Given the description of an element on the screen output the (x, y) to click on. 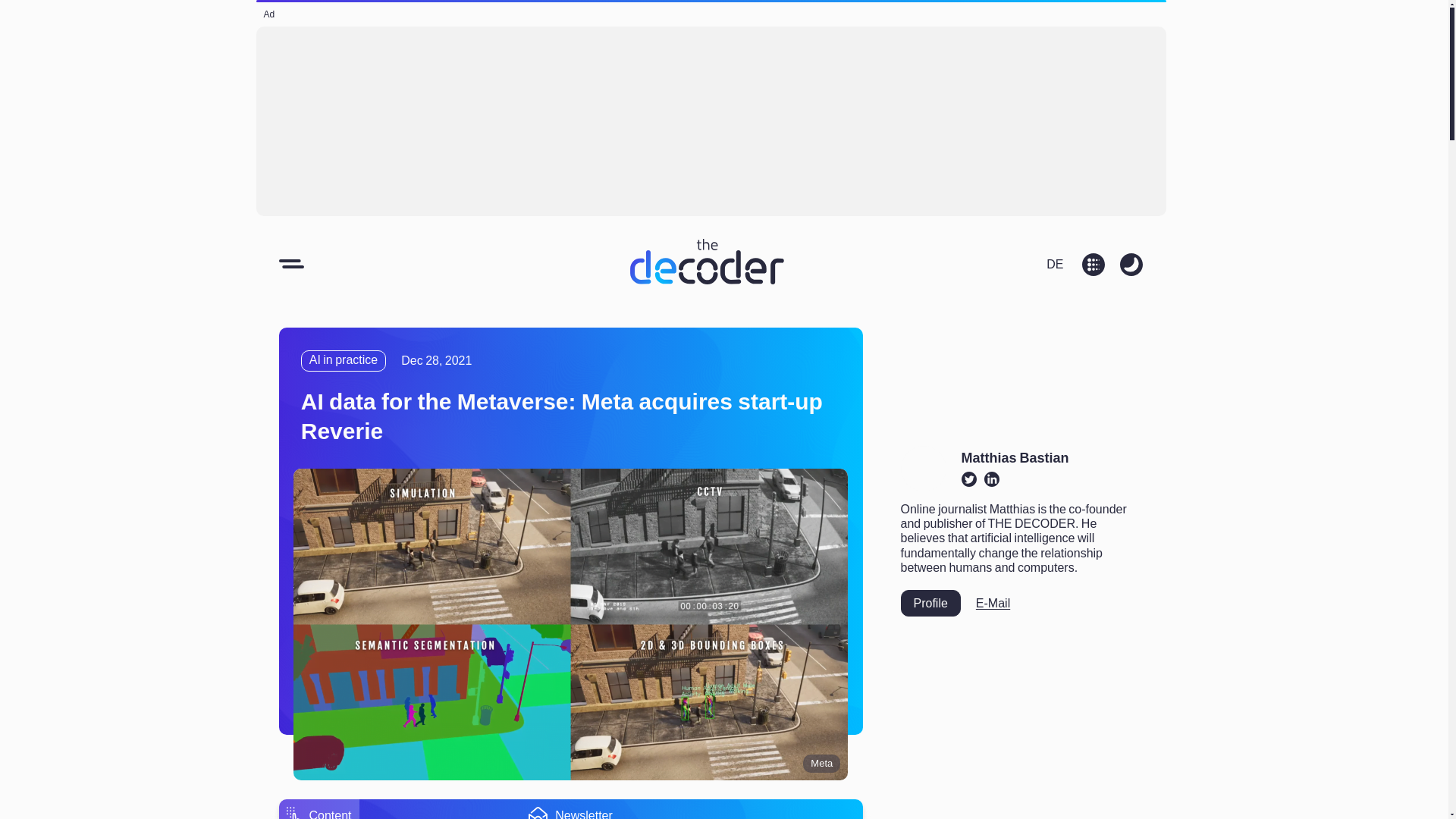
DE (1054, 263)
Matthias Bastian (1014, 458)
E-Mail (992, 603)
Profile (930, 602)
AI in practice (343, 360)
the-decoder.de (1054, 263)
Email (992, 603)
